Given the description of an element on the screen output the (x, y) to click on. 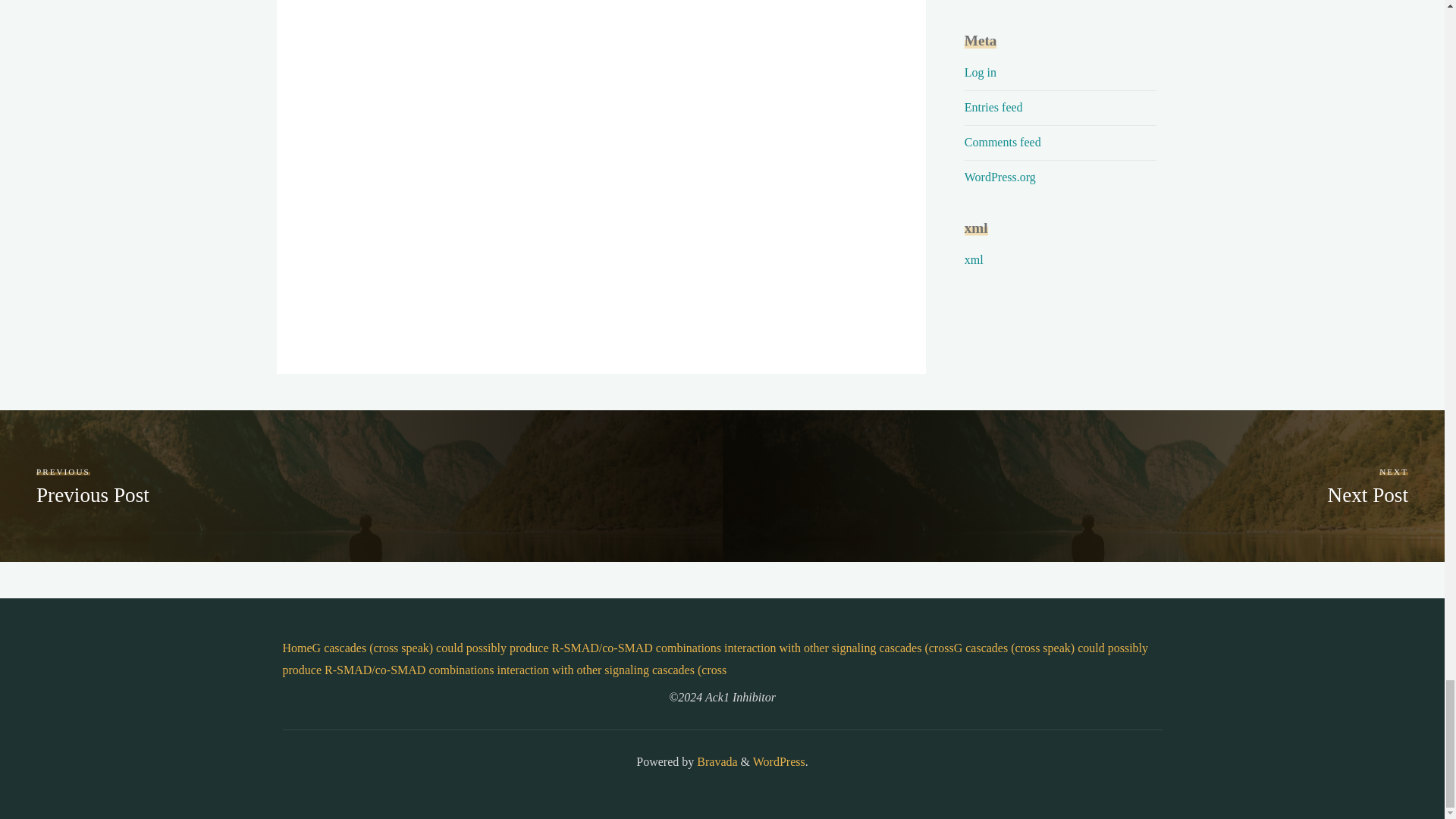
Bravada WordPress Theme by Cryout Creations (715, 761)
Semantic Personal Publishing Platform (778, 761)
